Given the description of an element on the screen output the (x, y) to click on. 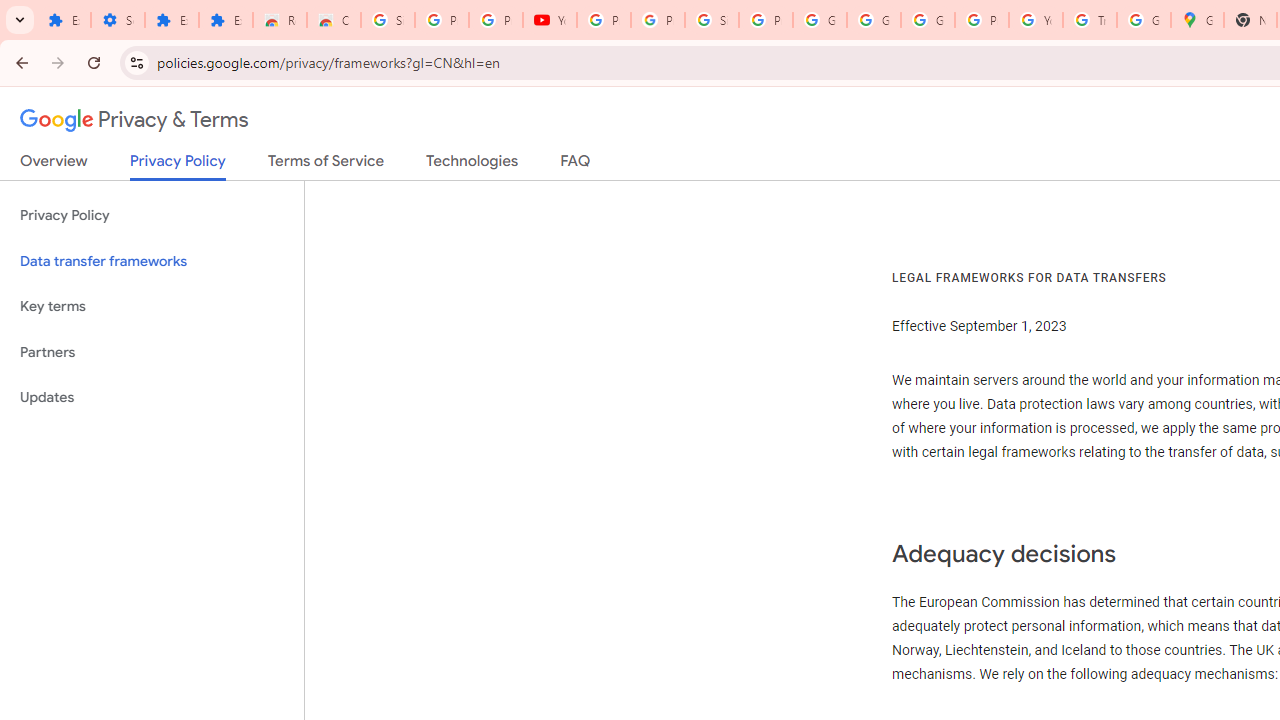
Sign in - Google Accounts (387, 20)
Chrome Web Store - Themes (333, 20)
Google Account (819, 20)
